Given the description of an element on the screen output the (x, y) to click on. 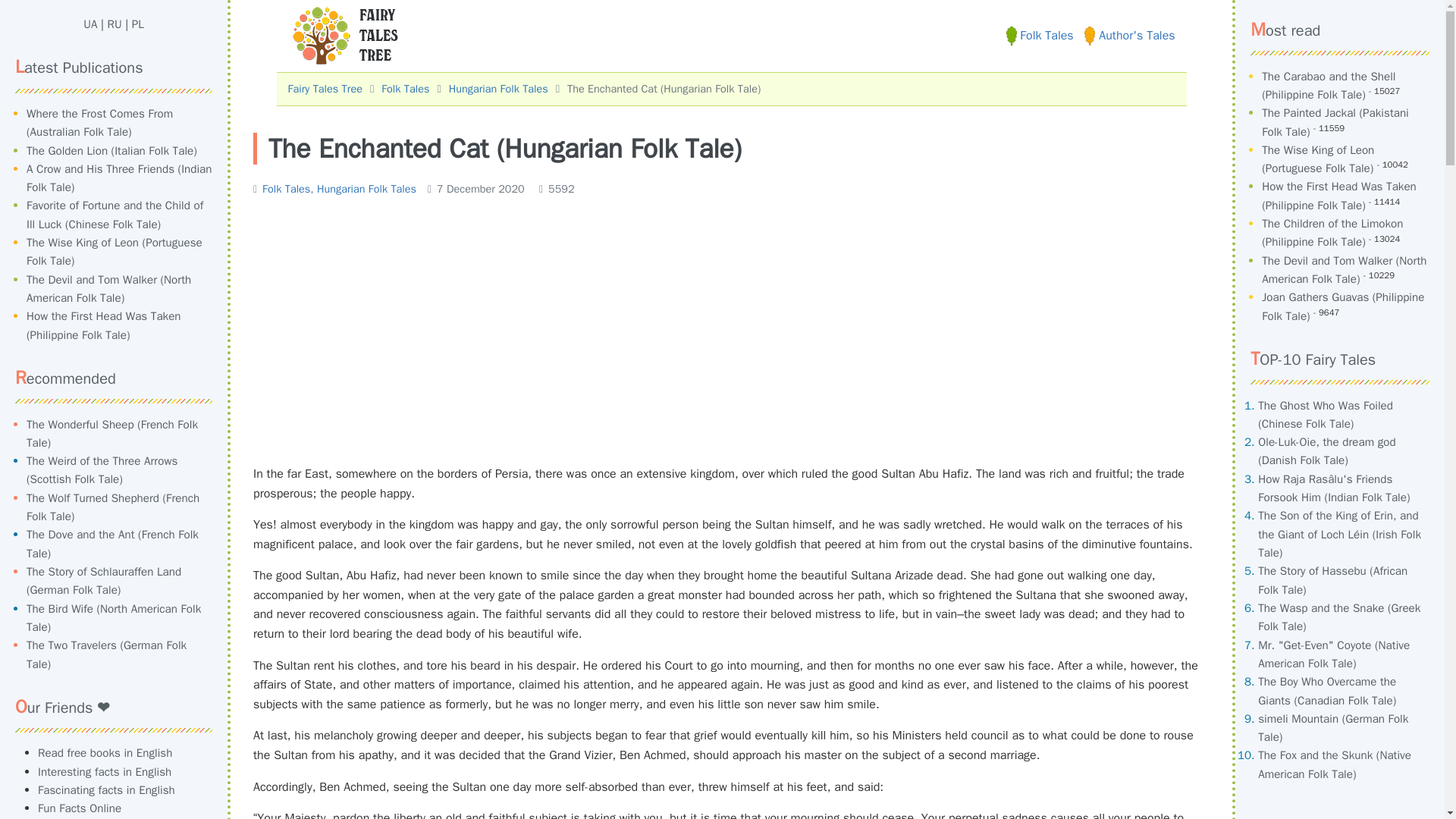
Fun Facts Online (78, 807)
Folk Tales (405, 88)
Fairy Tales Tree (325, 88)
RU (114, 23)
Folk Tales (286, 188)
UA (89, 23)
Hungarian Folk Tales (498, 88)
Post category (334, 188)
Hungarian Folk Tales (366, 188)
